Given the description of an element on the screen output the (x, y) to click on. 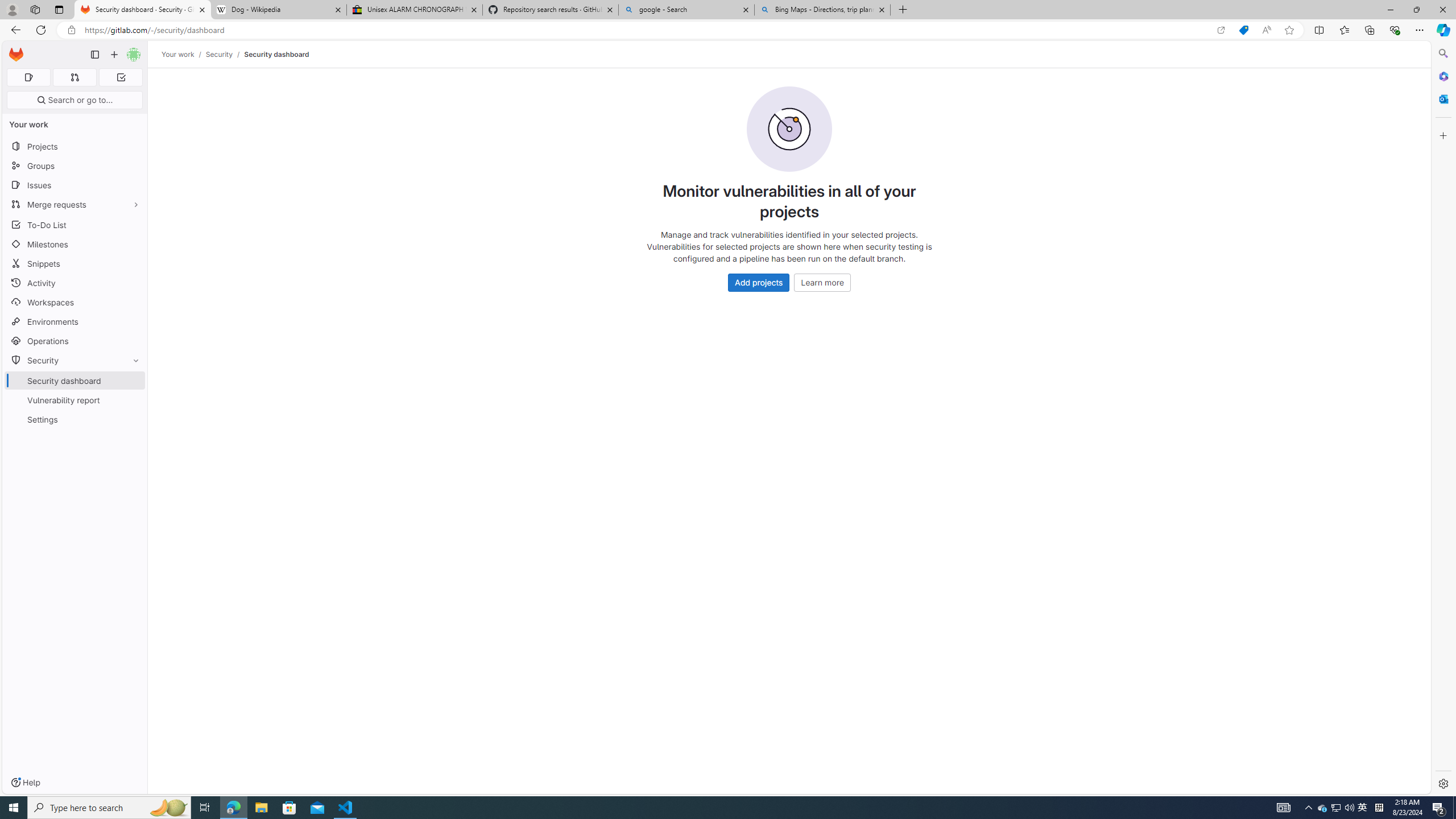
Environments (74, 321)
Security (218, 53)
Primary navigation sidebar (94, 54)
Security (74, 359)
To-Do List (74, 224)
Environments (74, 321)
To-Do list 0 (120, 76)
Issues (74, 185)
Learn more (821, 282)
